Given the description of an element on the screen output the (x, y) to click on. 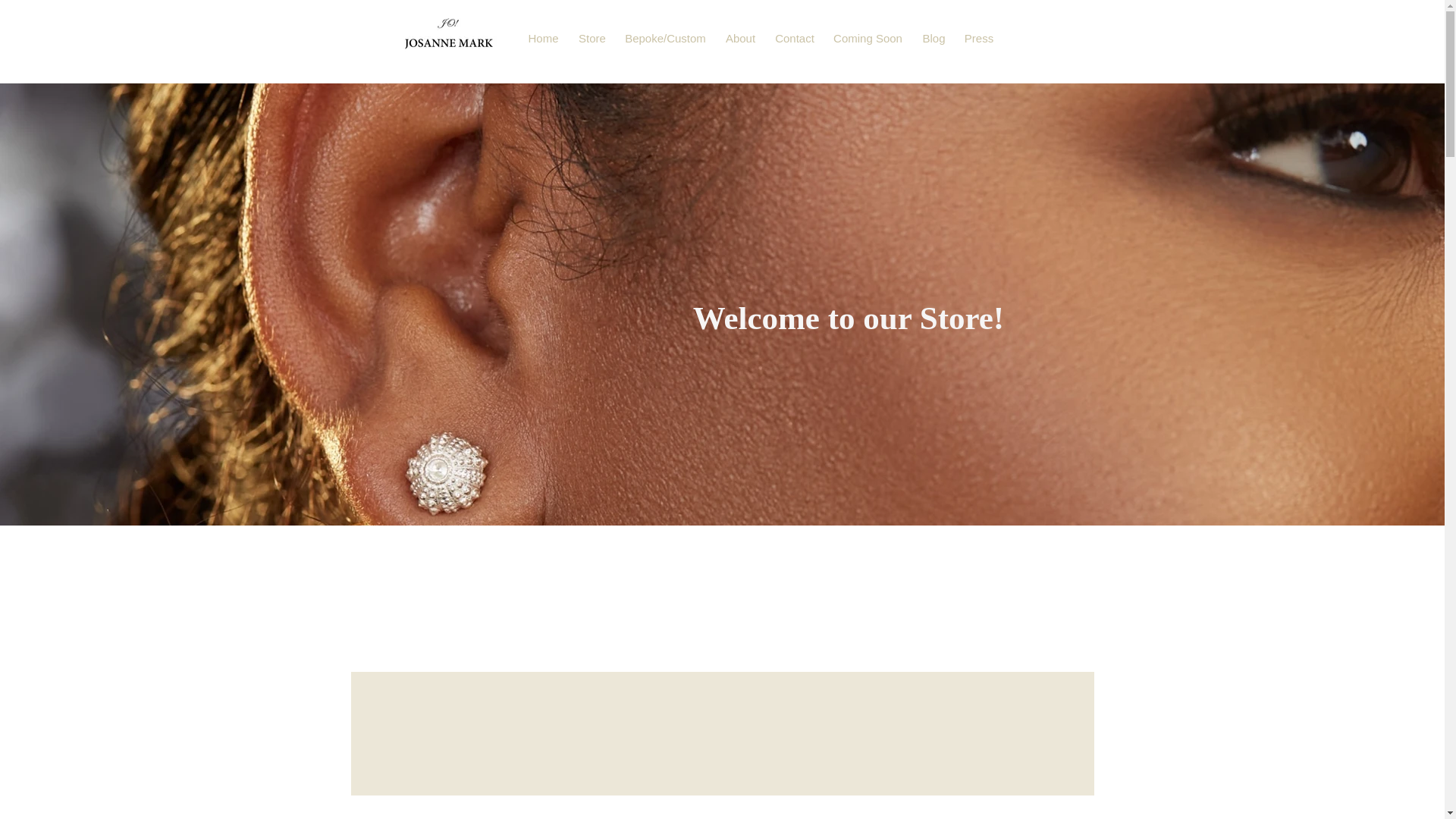
Coming Soon (867, 38)
About (740, 38)
Press (978, 38)
Blog (932, 38)
Contact (794, 38)
Home (542, 38)
